Given the description of an element on the screen output the (x, y) to click on. 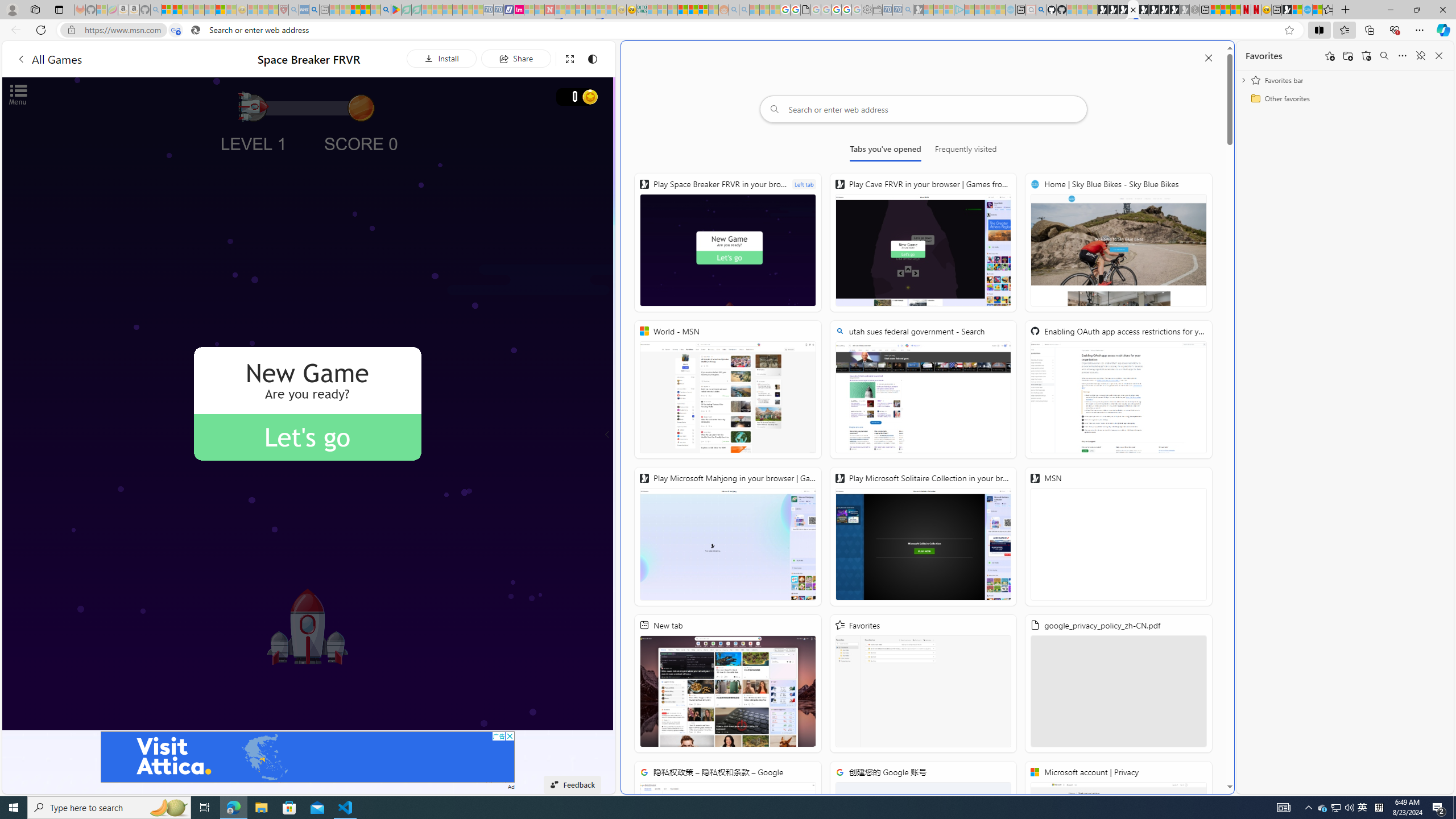
utah sues federal government - Search (314, 9)
Class: control (606, 434)
Change to dark mode (592, 58)
Expert Portfolios (682, 9)
Play Cave FRVR in your browser | Games from Microsoft Start (922, 242)
